Given the description of an element on the screen output the (x, y) to click on. 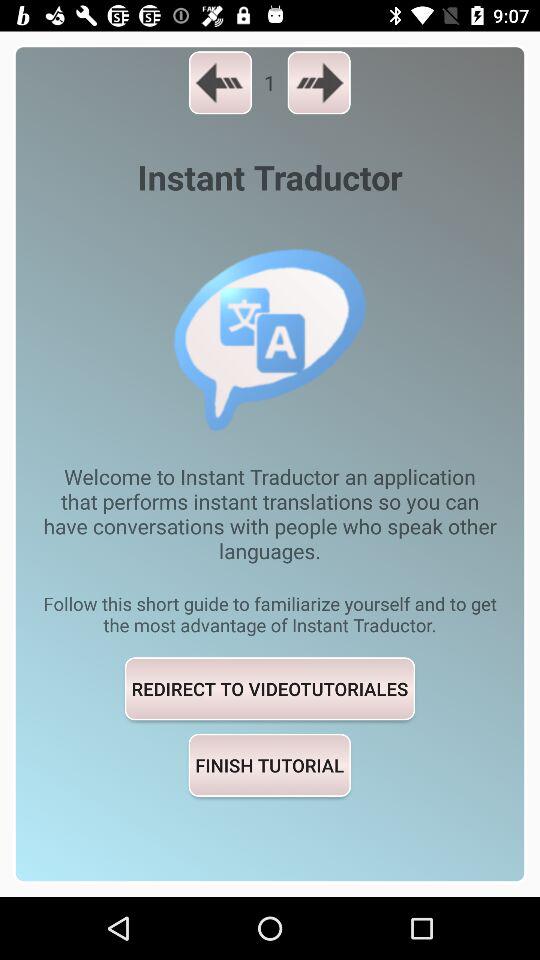
press icon below the redirect to videotutoriales item (269, 764)
